Given the description of an element on the screen output the (x, y) to click on. 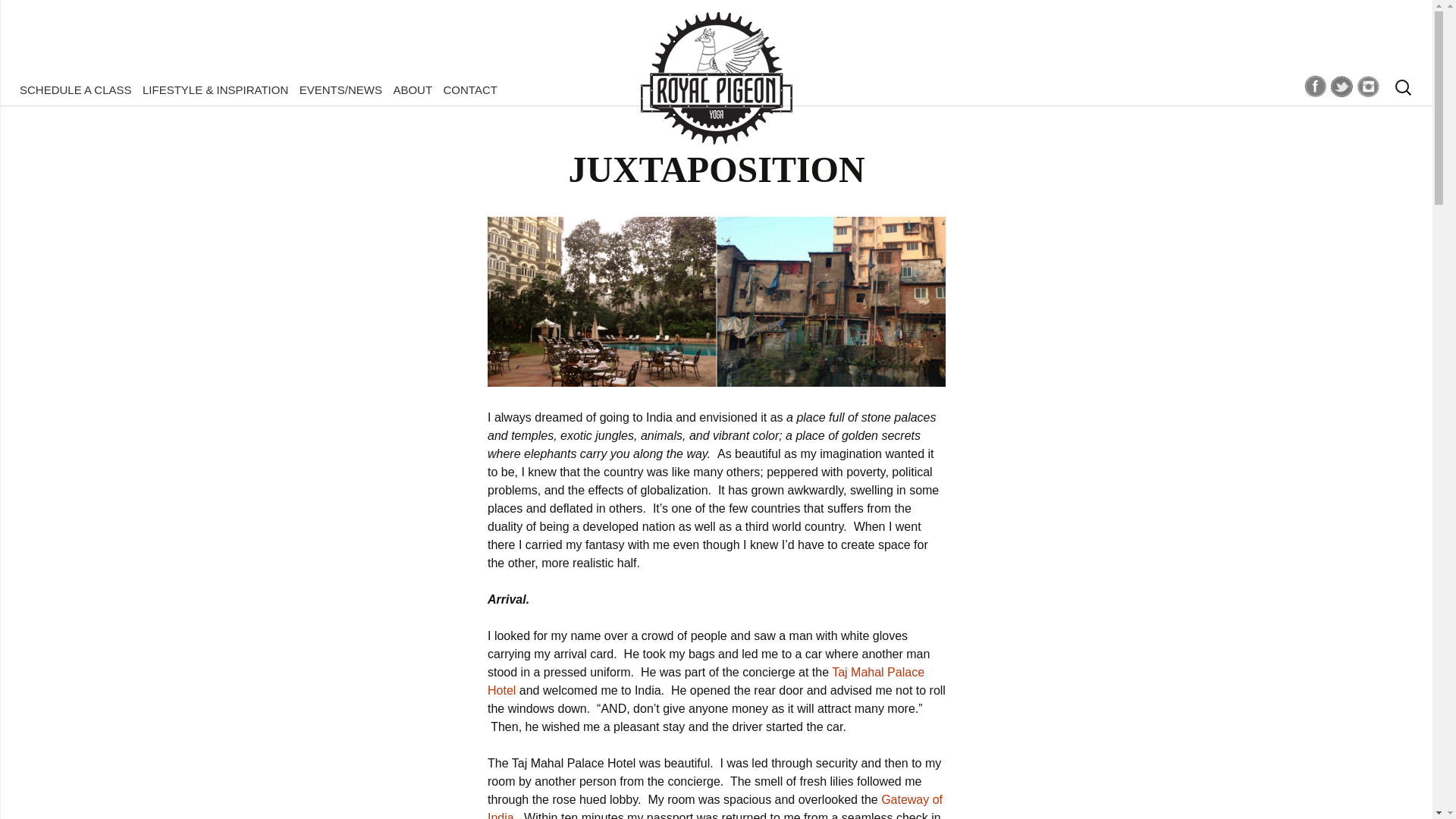
ABOUT (411, 89)
Skip to content (56, 89)
Taj Mahal Palace Hotel (705, 680)
Gateway of India (714, 806)
CONTACT (469, 89)
Skip to content (56, 89)
Search (18, 15)
SCHEDULE A CLASS (75, 89)
